Given the description of an element on the screen output the (x, y) to click on. 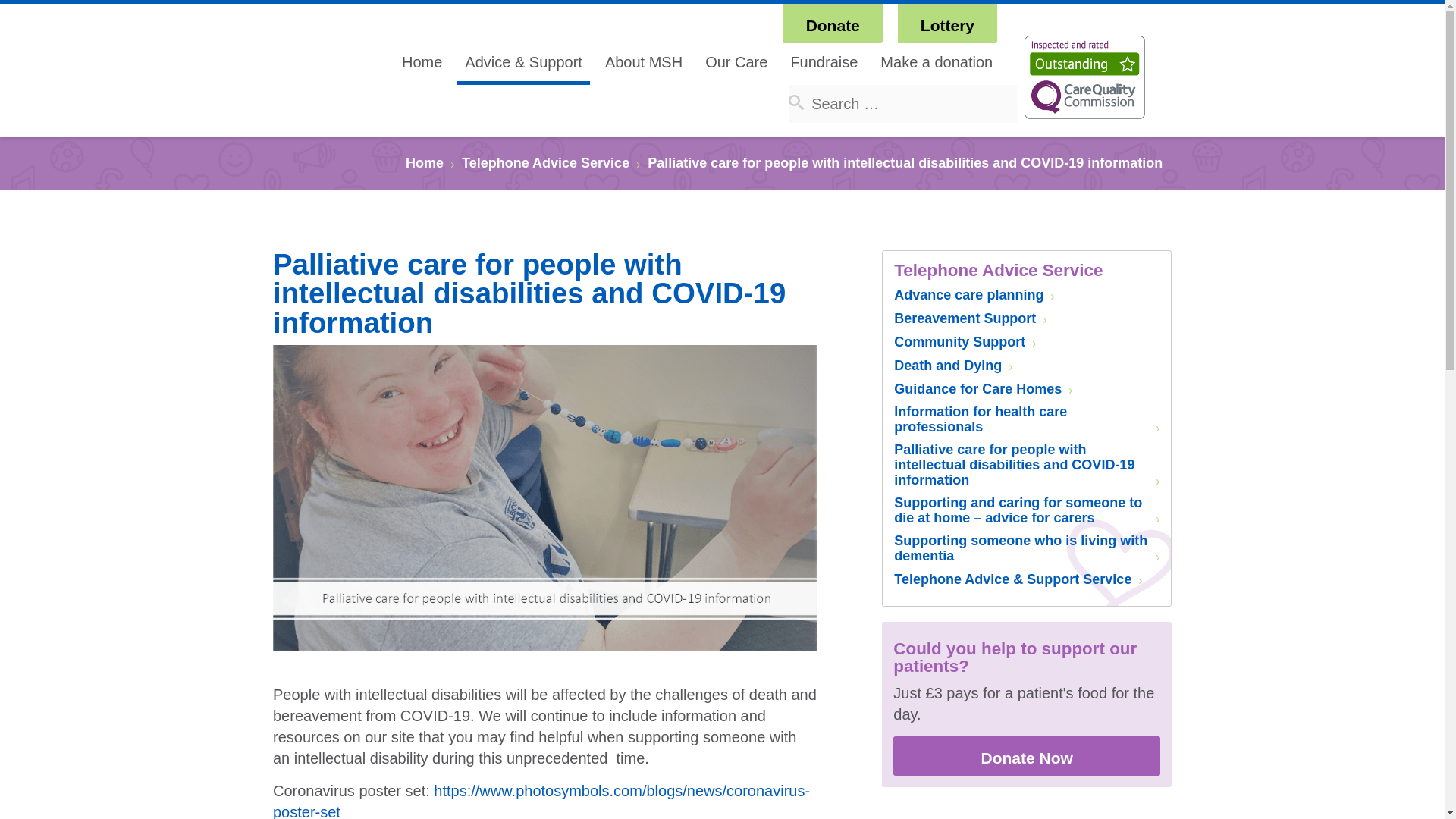
About MSH (643, 62)
Home (421, 62)
Our Care (735, 62)
Fundraise (823, 62)
Donate (832, 23)
Lottery (947, 23)
